Given the description of an element on the screen output the (x, y) to click on. 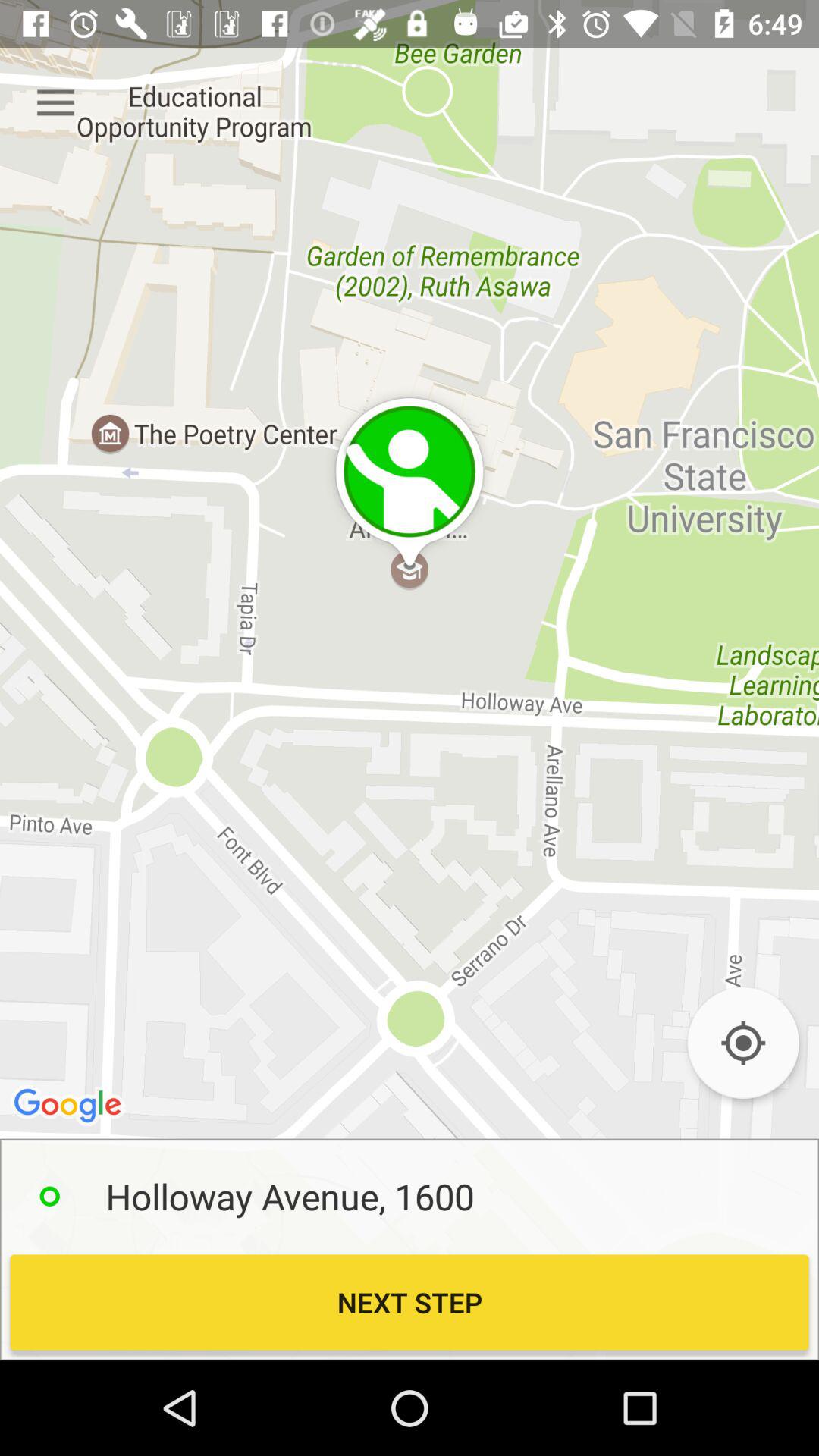
press the icon above the holloway avenue, 1600 item (743, 1042)
